Given the description of an element on the screen output the (x, y) to click on. 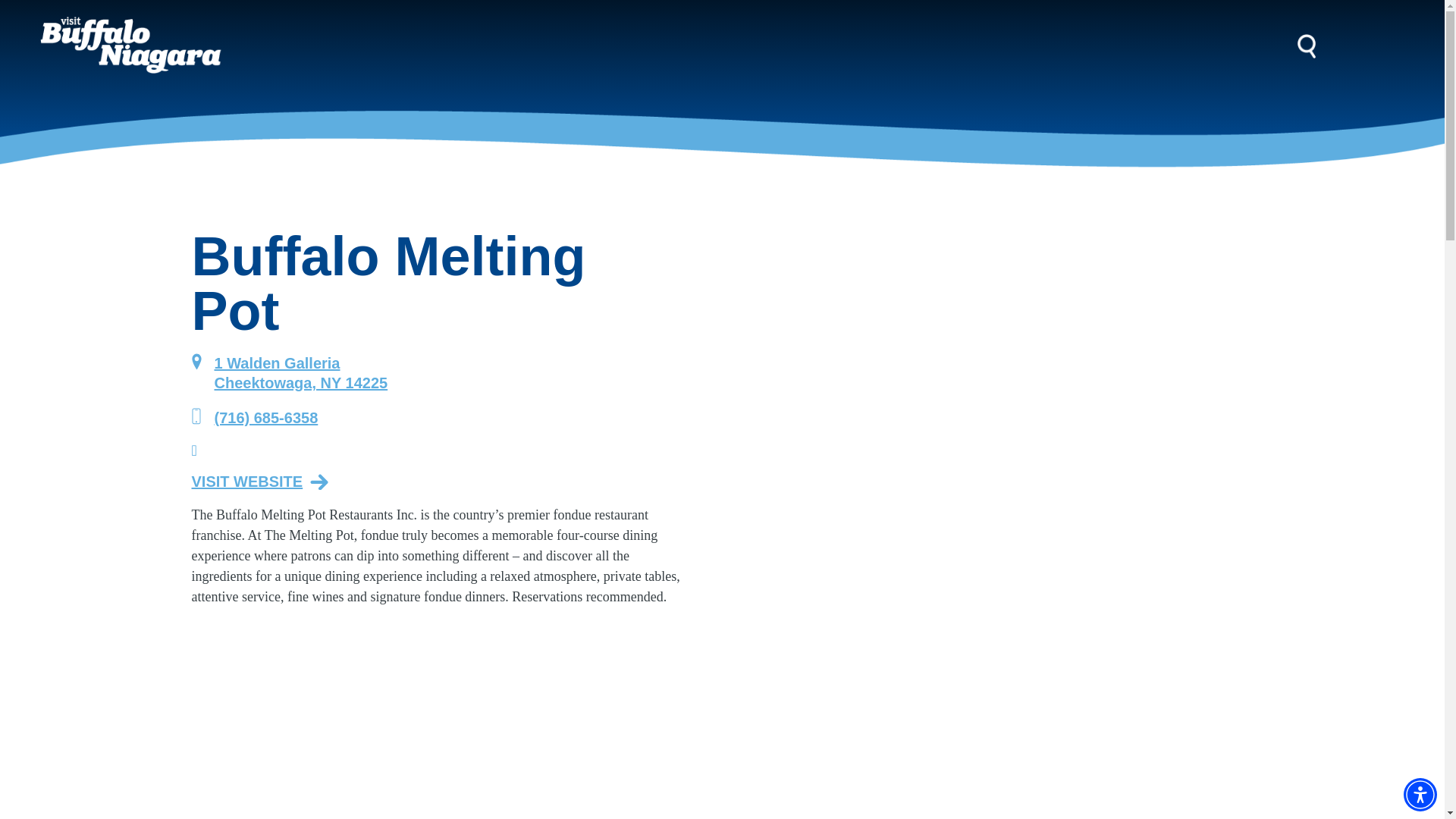
submit (51, 16)
Accessibility Menu (1420, 794)
